Given the description of an element on the screen output the (x, y) to click on. 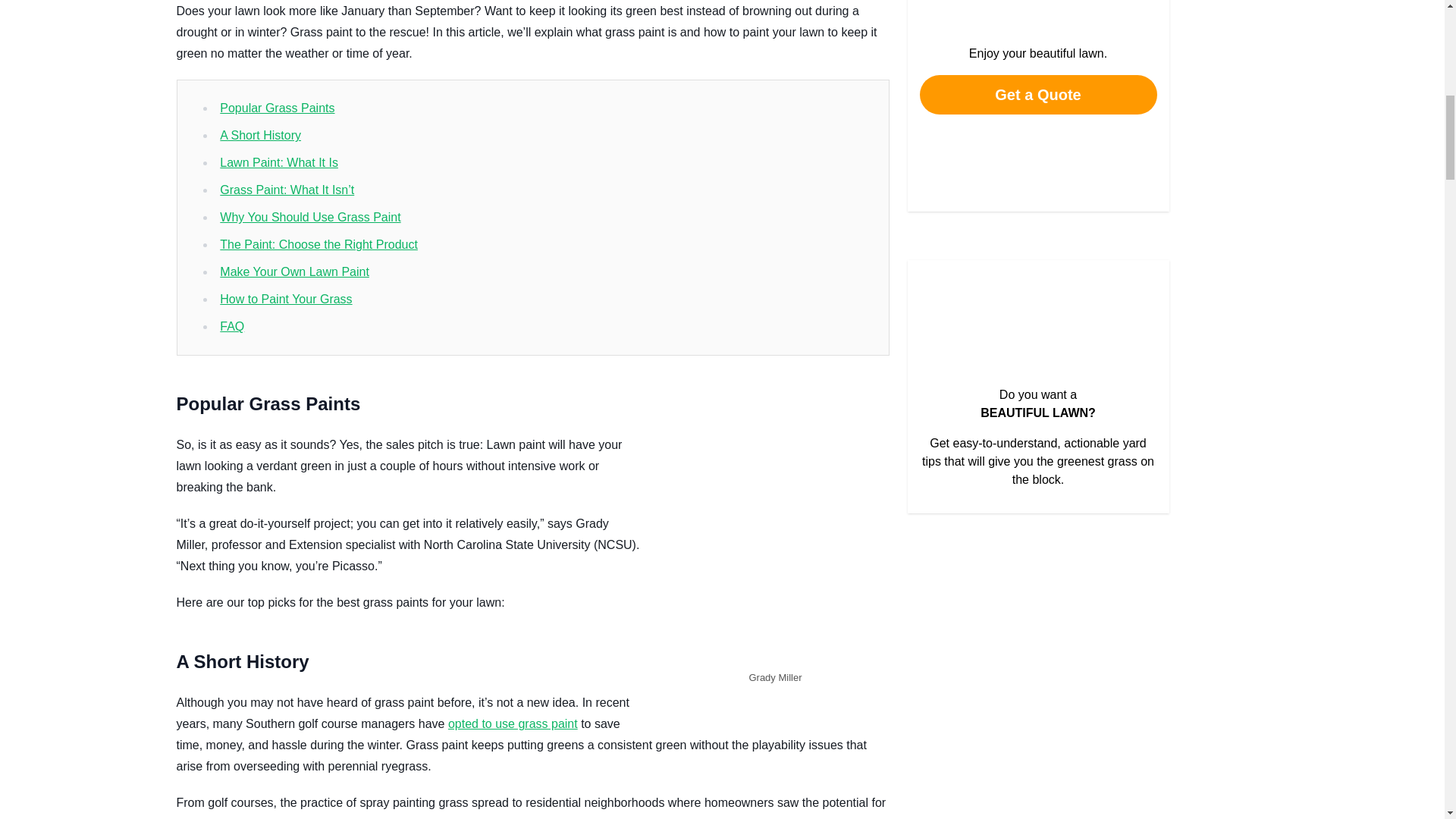
Lawn Paint: What It Is (278, 162)
Why You Should Use Grass Paint (309, 216)
opted to use grass paint (513, 723)
How to Paint Your Grass (285, 298)
The Paint: Choose the Right Product (318, 244)
Popular Grass Paints (276, 107)
FAQ (231, 326)
A Short History (260, 134)
Make Your Own Lawn Paint (294, 271)
